Given the description of an element on the screen output the (x, y) to click on. 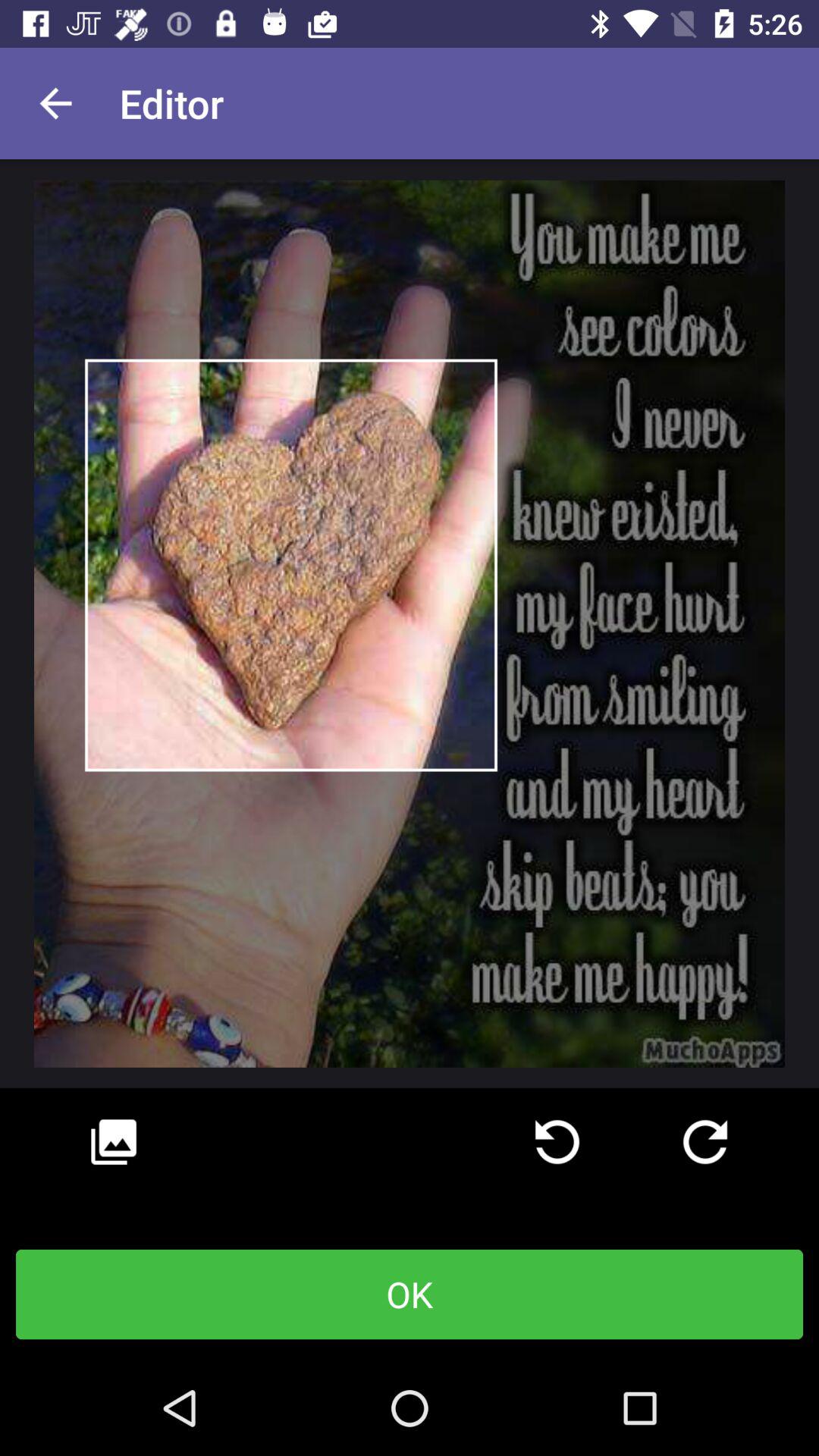
go to gallery option (113, 1142)
